Given the description of an element on the screen output the (x, y) to click on. 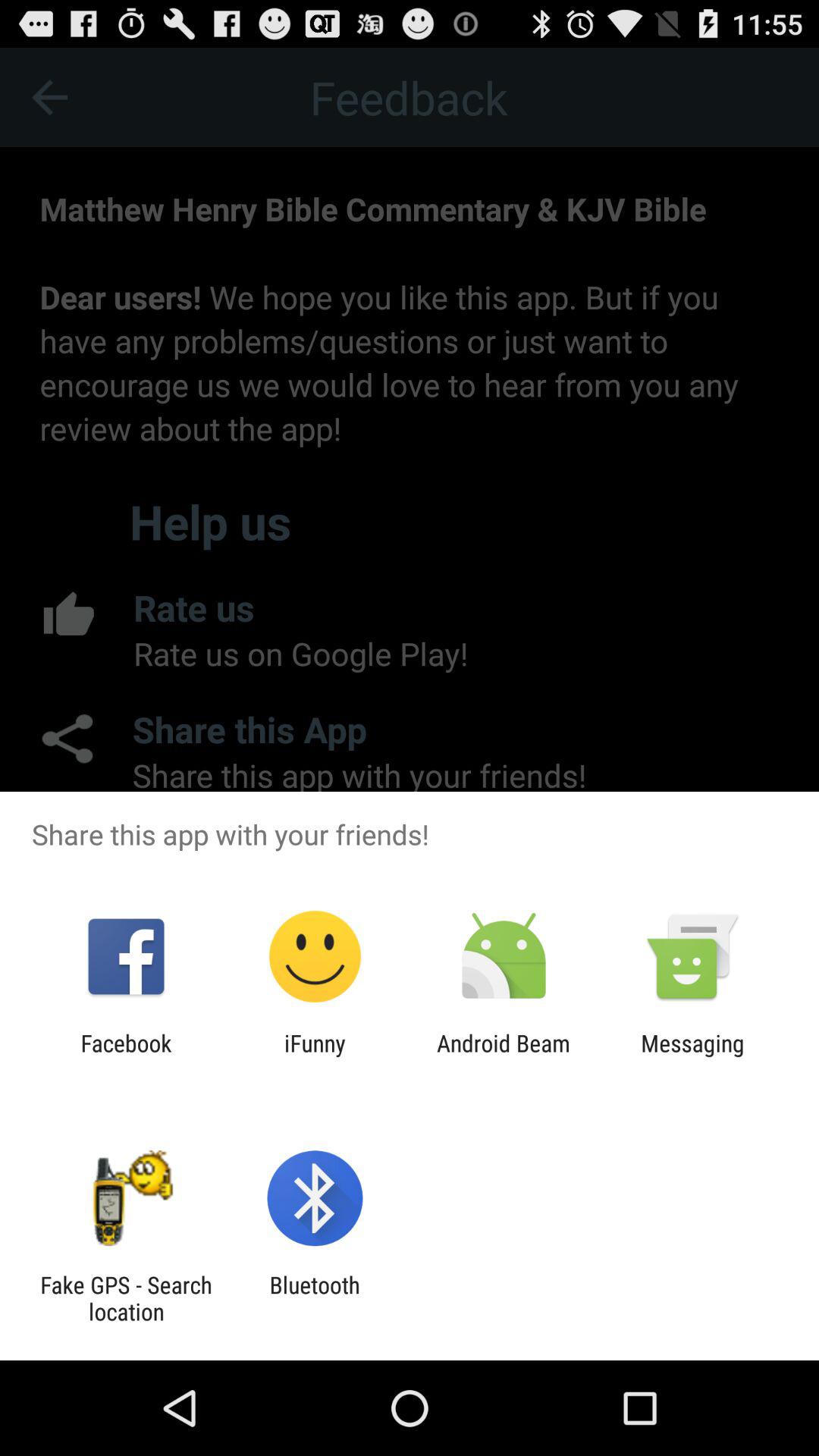
flip until facebook (125, 1056)
